Given the description of an element on the screen output the (x, y) to click on. 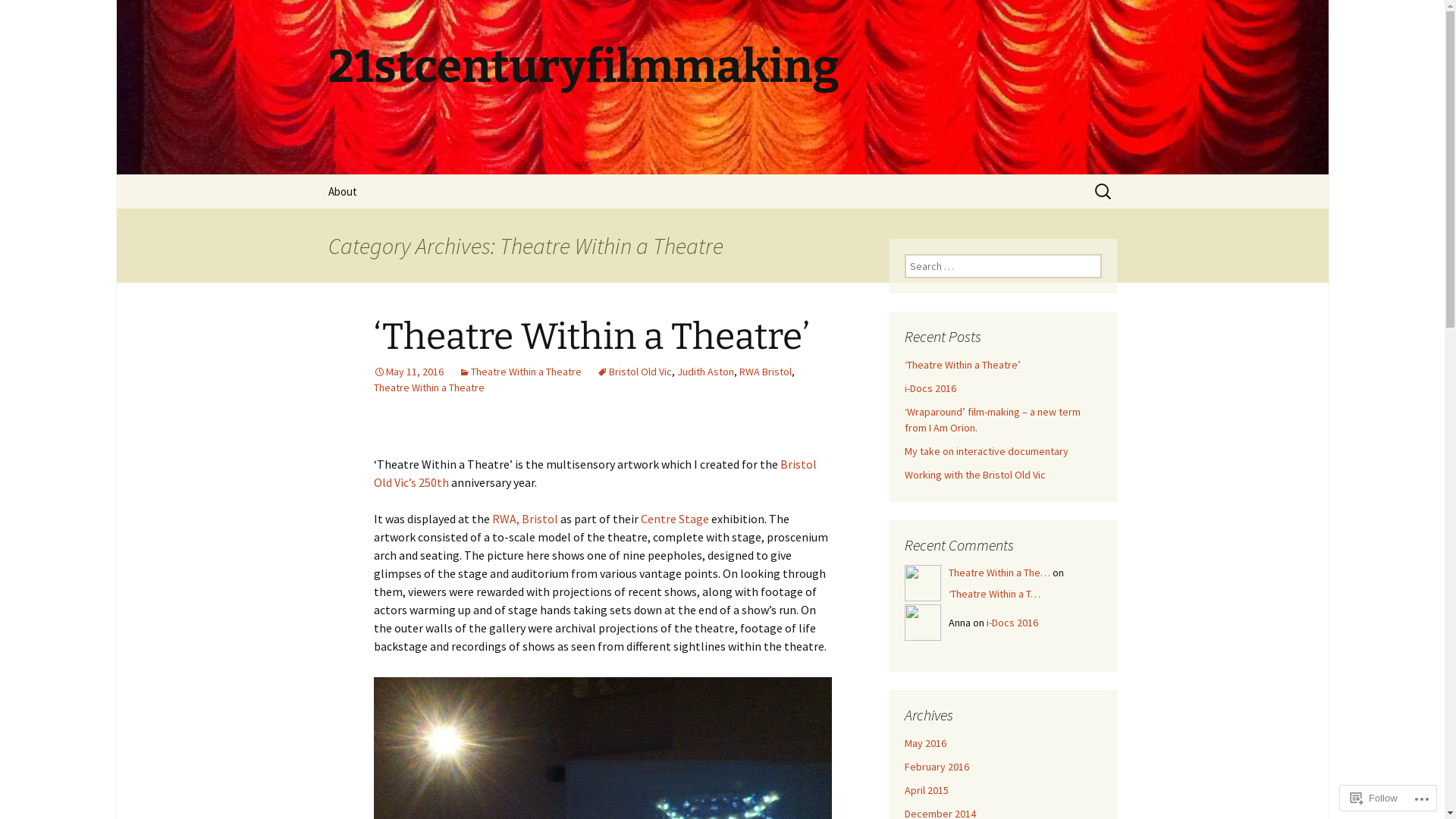
May 2016 Element type: text (924, 742)
i-Docs 2016 Element type: text (929, 388)
Working with the Bristol Old Vic Element type: text (973, 474)
Theatre Within a Theatre Element type: text (428, 387)
RWA, Bristol Element type: text (524, 518)
Bristol Old Vic Element type: text (633, 371)
Search Element type: text (18, 16)
February 2016 Element type: text (935, 766)
My take on interactive documentary Element type: text (985, 451)
Follow Element type: text (1373, 797)
May 11, 2016 Element type: text (407, 371)
i-Docs 2016 Element type: text (1011, 622)
Search Element type: text (34, 15)
Anna Element type: hover (921, 622)
Theatre Within a Theatre Element type: text (519, 371)
Judith Aston Element type: text (704, 371)
RWA Bristol Element type: text (764, 371)
About Element type: text (341, 191)
April 2015 Element type: text (925, 790)
Centre Stage Element type: text (674, 518)
21stcenturyfilmmaking Element type: text (721, 87)
